Given the description of an element on the screen output the (x, y) to click on. 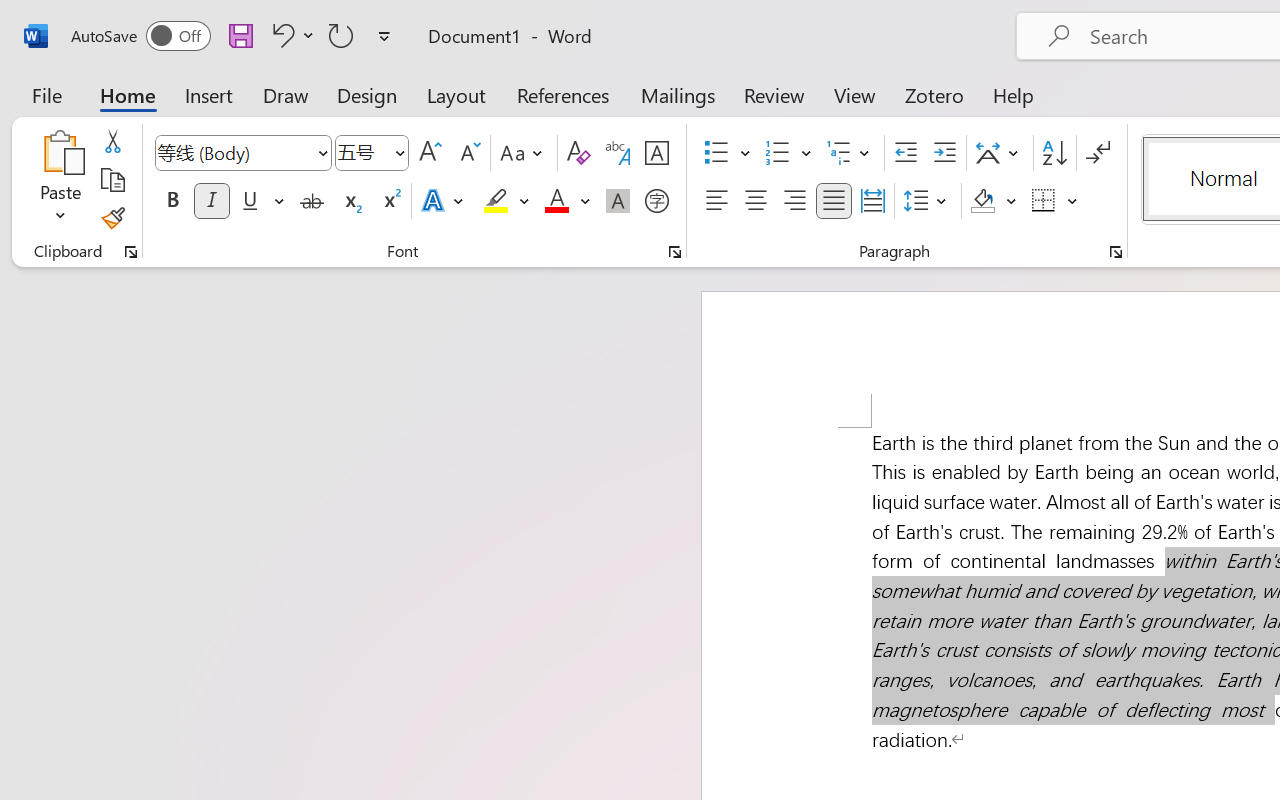
Text Highlight Color (506, 201)
Font Color Red (556, 201)
Clear Formatting (578, 153)
Shrink Font (468, 153)
Office Clipboard... (131, 252)
Grow Font (430, 153)
Change Case (524, 153)
Undo Italic (290, 35)
